Given the description of an element on the screen output the (x, y) to click on. 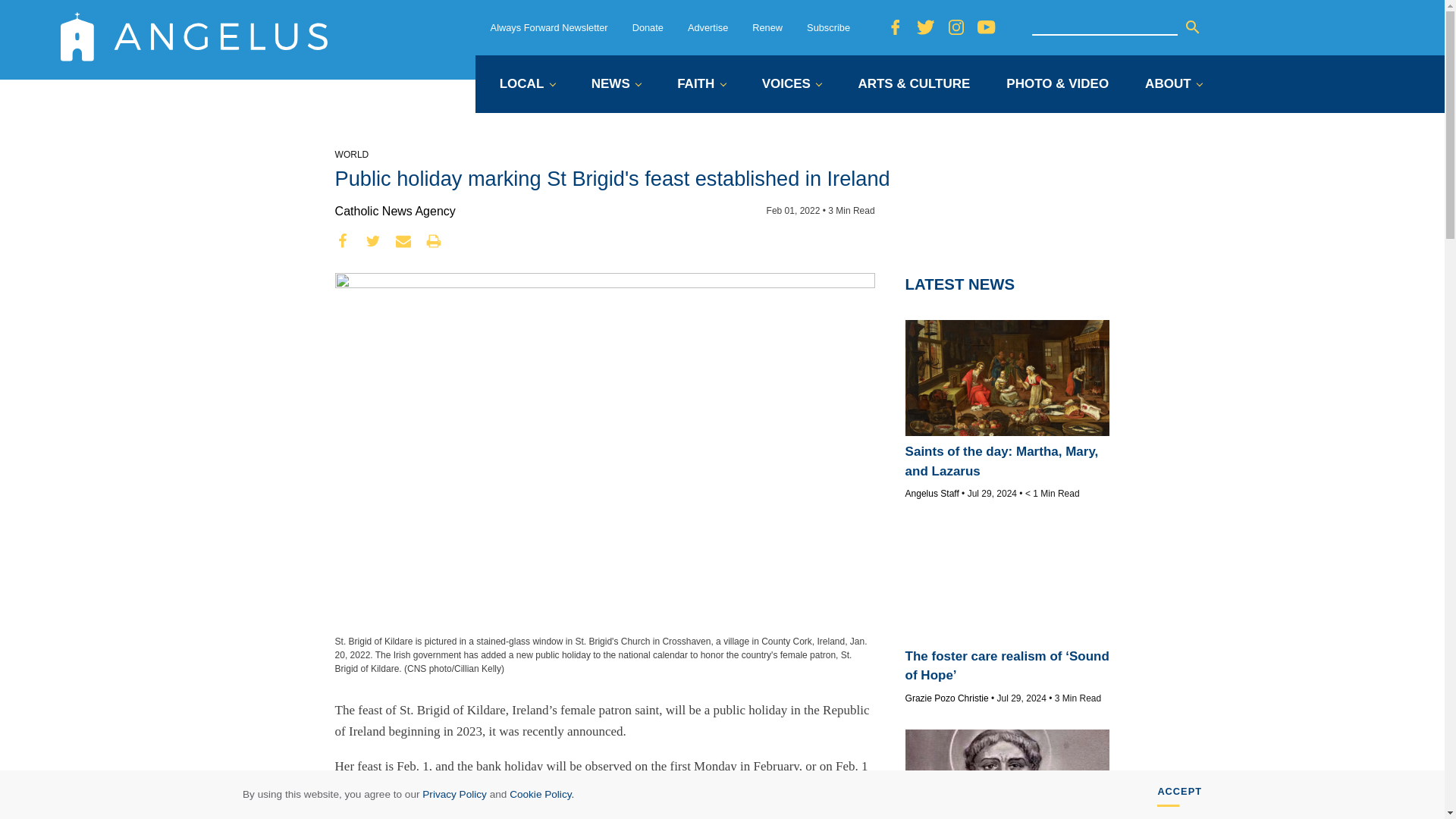
facebook (342, 240)
NEWS (615, 84)
ACCEPT (1179, 794)
LOCAL (526, 84)
Privacy Policy (454, 794)
Posts by Angelus Staff (932, 493)
Posts by Catholic News Agency (394, 210)
Donate (647, 27)
Advertise (707, 27)
Search (1192, 27)
Always Forward Newsletter (549, 27)
Cookie Policy. (541, 794)
envelope (403, 240)
FAITH (701, 84)
Renew (767, 27)
